Given the description of an element on the screen output the (x, y) to click on. 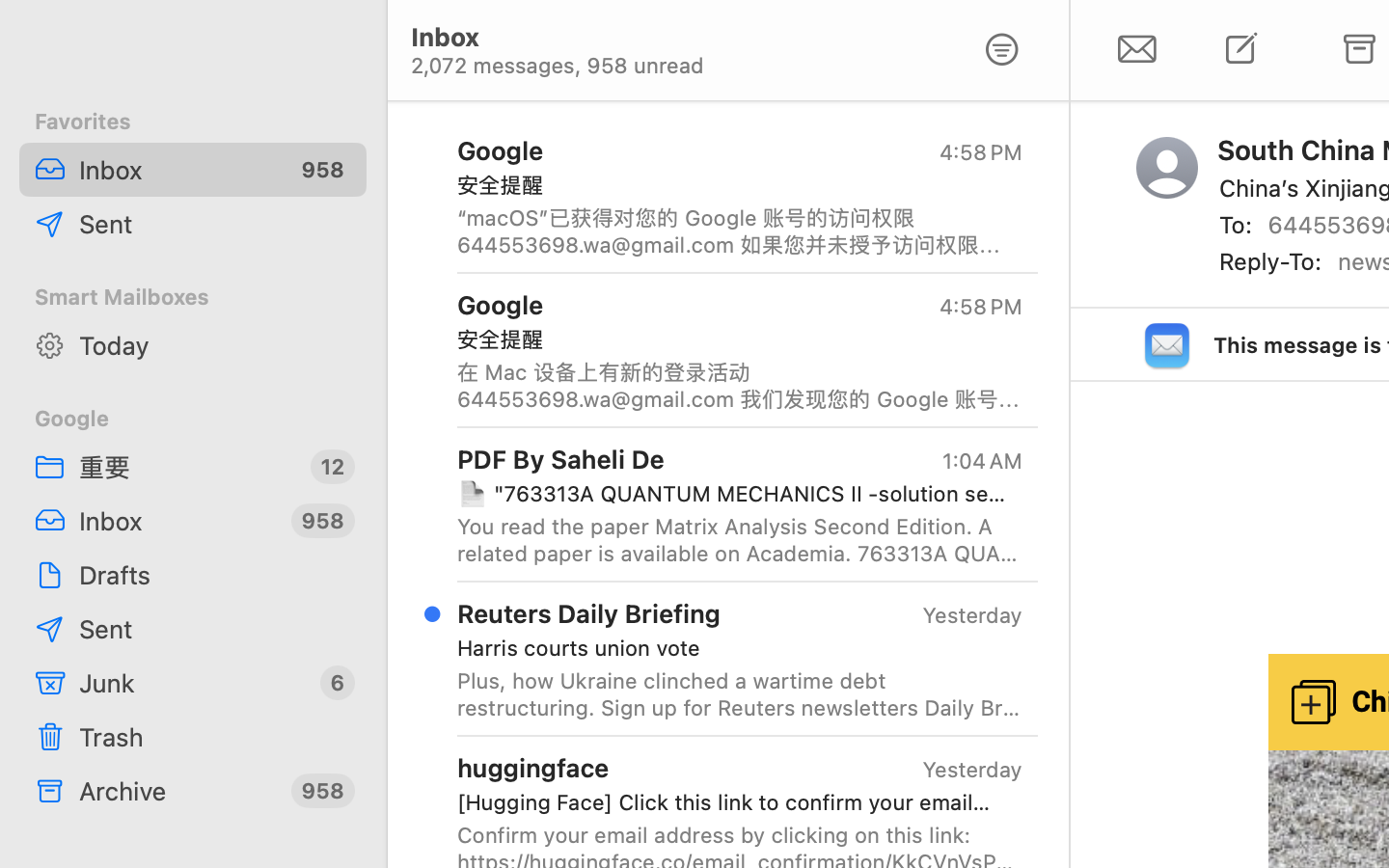
1:04 AM Element type: AXStaticText (980, 460)
Trash Element type: AXStaticText (214, 736)
Junk Element type: AXStaticText (191, 682)
huggingface Element type: AXStaticText (533, 767)
[Hugging Face] Click this link to confirm your email address Element type: AXStaticText (731, 801)
